Given the description of an element on the screen output the (x, y) to click on. 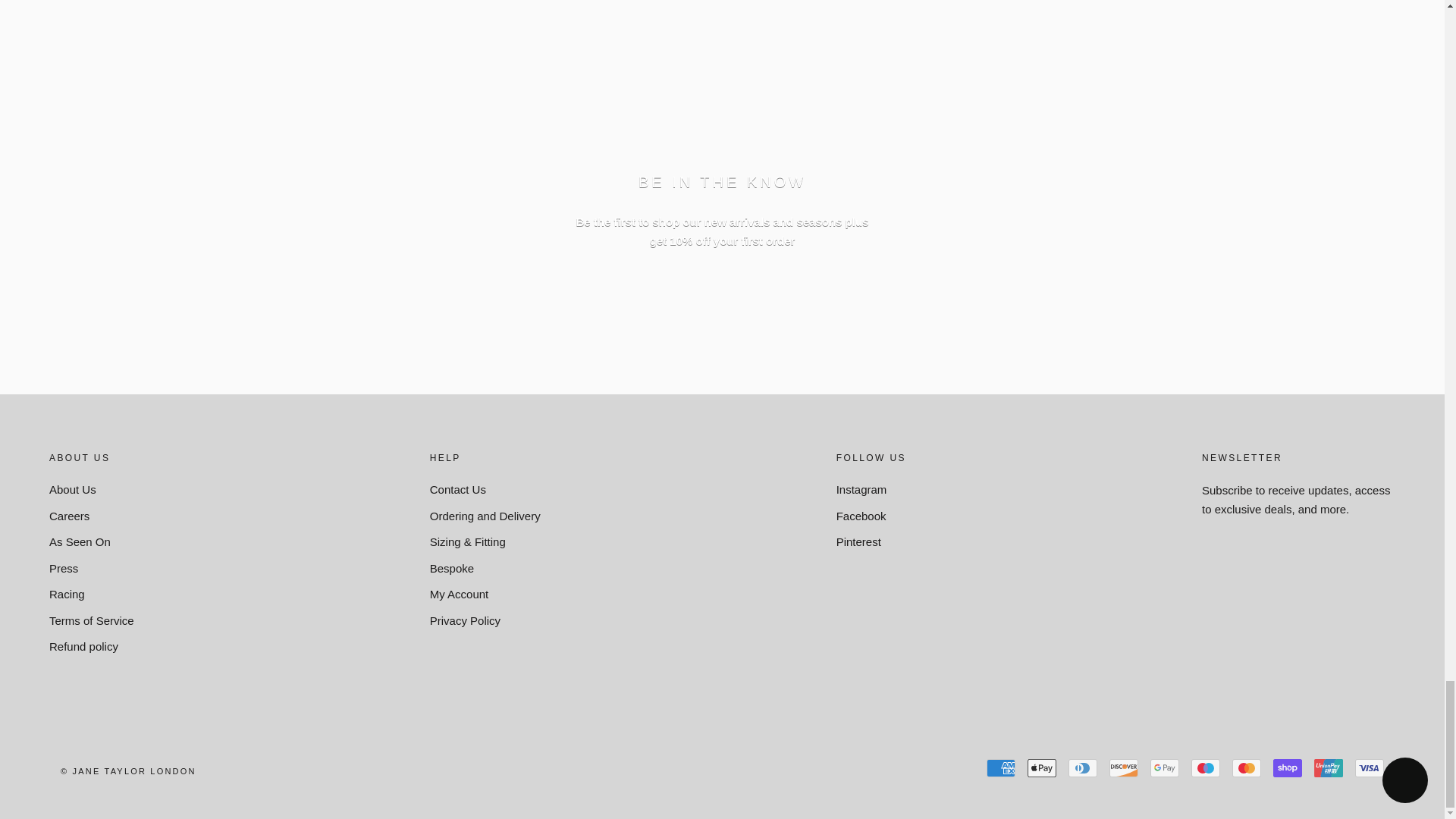
Maestro (1205, 768)
Apple Pay (1042, 768)
Google Pay (1164, 768)
Visa (1369, 768)
Union Pay (1328, 768)
Mastercard (1245, 768)
Discover (1123, 768)
Shop Pay (1286, 768)
Diners Club (1082, 768)
American Express (1000, 768)
